Given the description of an element on the screen output the (x, y) to click on. 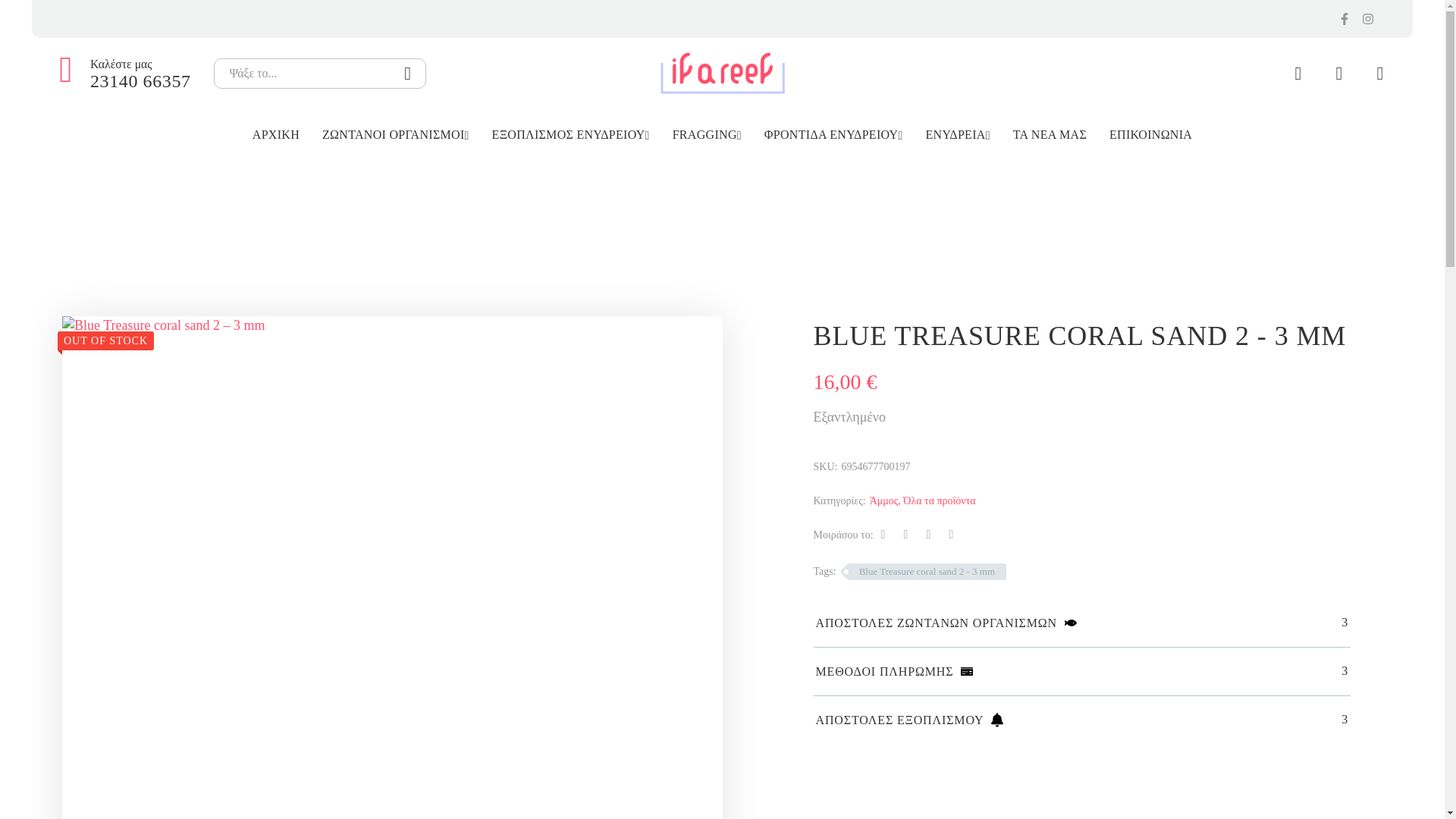
Twitter (906, 534)
Pinterest (928, 534)
Tumblr (951, 534)
Facebook (883, 534)
